Given the description of an element on the screen output the (x, y) to click on. 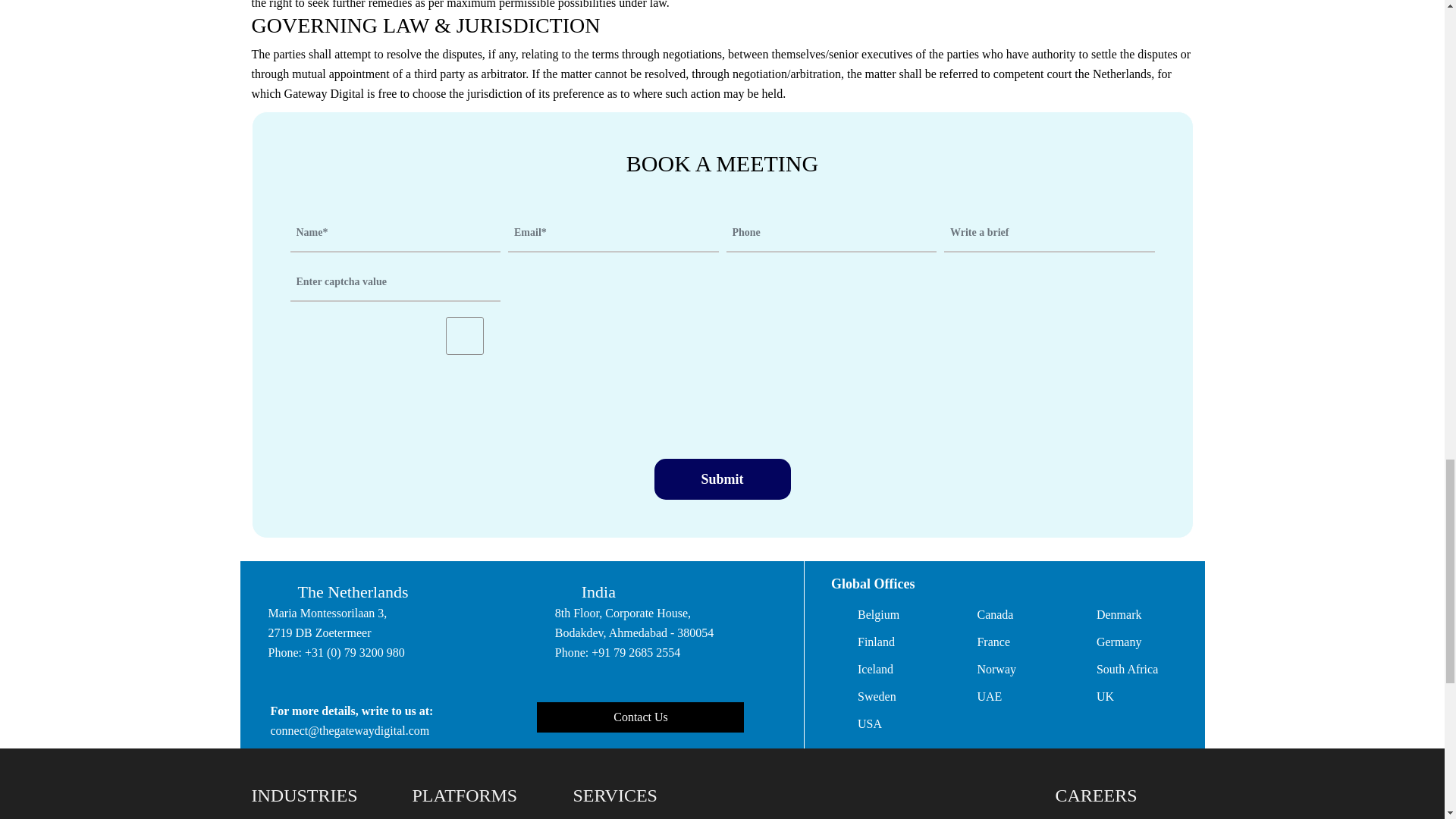
Submit (721, 478)
